Given the description of an element on the screen output the (x, y) to click on. 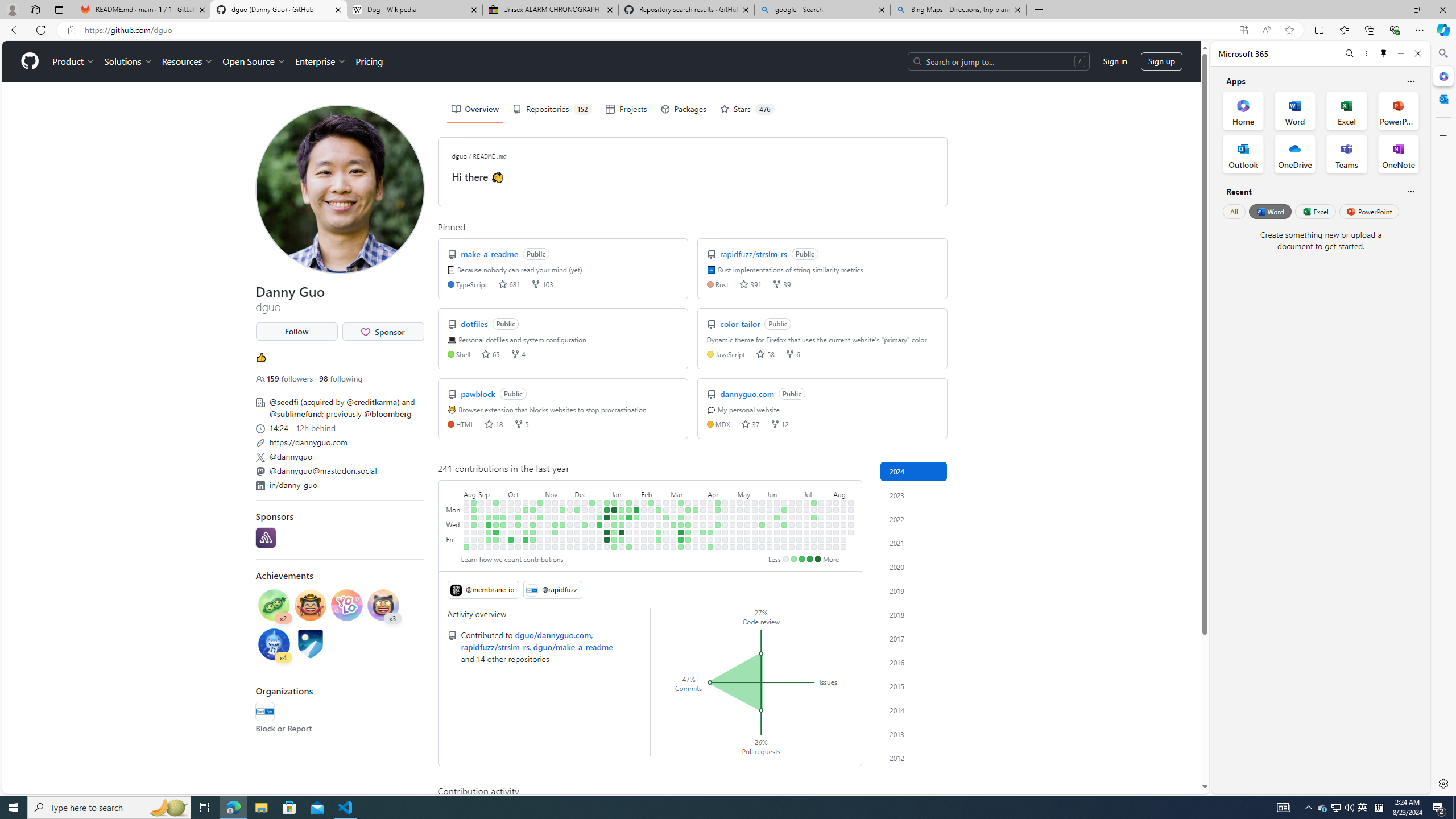
No contributions on May 21st. (754, 517)
No contributions on May 16th. (747, 531)
in/danny-guo (293, 484)
No contributions on October 24th. (532, 517)
No contributions on September 30th. (503, 546)
No contributions on November 11th. (547, 546)
No contributions on July 3rd. (799, 524)
No contributions on June 24th. (791, 509)
No contributions on July 30th. (828, 517)
Contribution activity in 2012 (913, 757)
No contributions on September 28th. (503, 531)
1 contribution on November 16th. (555, 531)
Day of Week (454, 492)
make-a-readme (490, 253)
No contributions on September 5th. (481, 517)
